Given the description of an element on the screen output the (x, y) to click on. 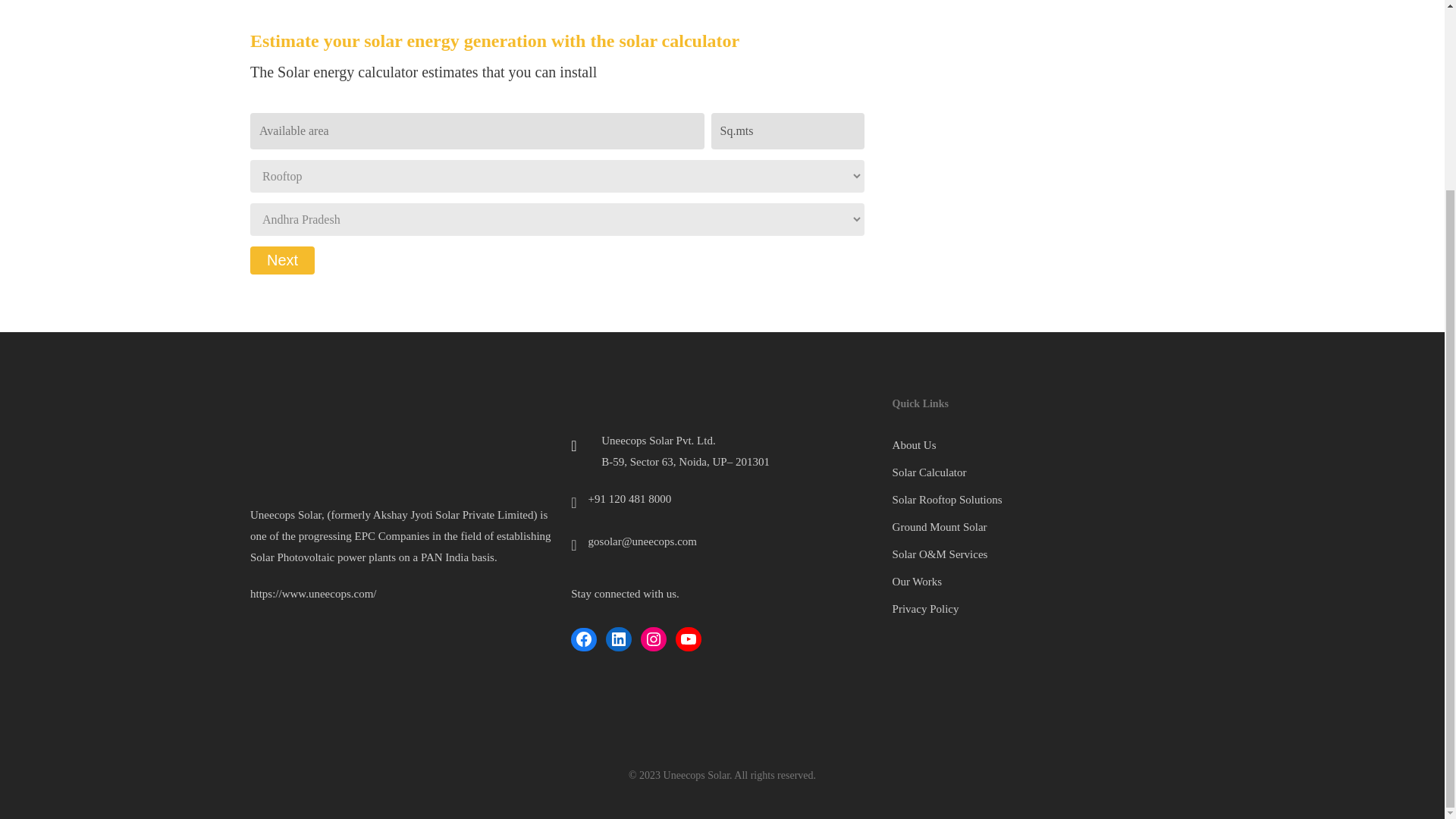
Facebook (583, 638)
About Us (1042, 444)
Solar Rooftop Solutions (1042, 499)
LinkedIn (618, 638)
Ground Mount Solar (1042, 526)
YouTube (688, 638)
Solar Calculator (1042, 472)
Instagram (653, 638)
Our Works (1042, 581)
Privacy Policy (1042, 608)
